Given the description of an element on the screen output the (x, y) to click on. 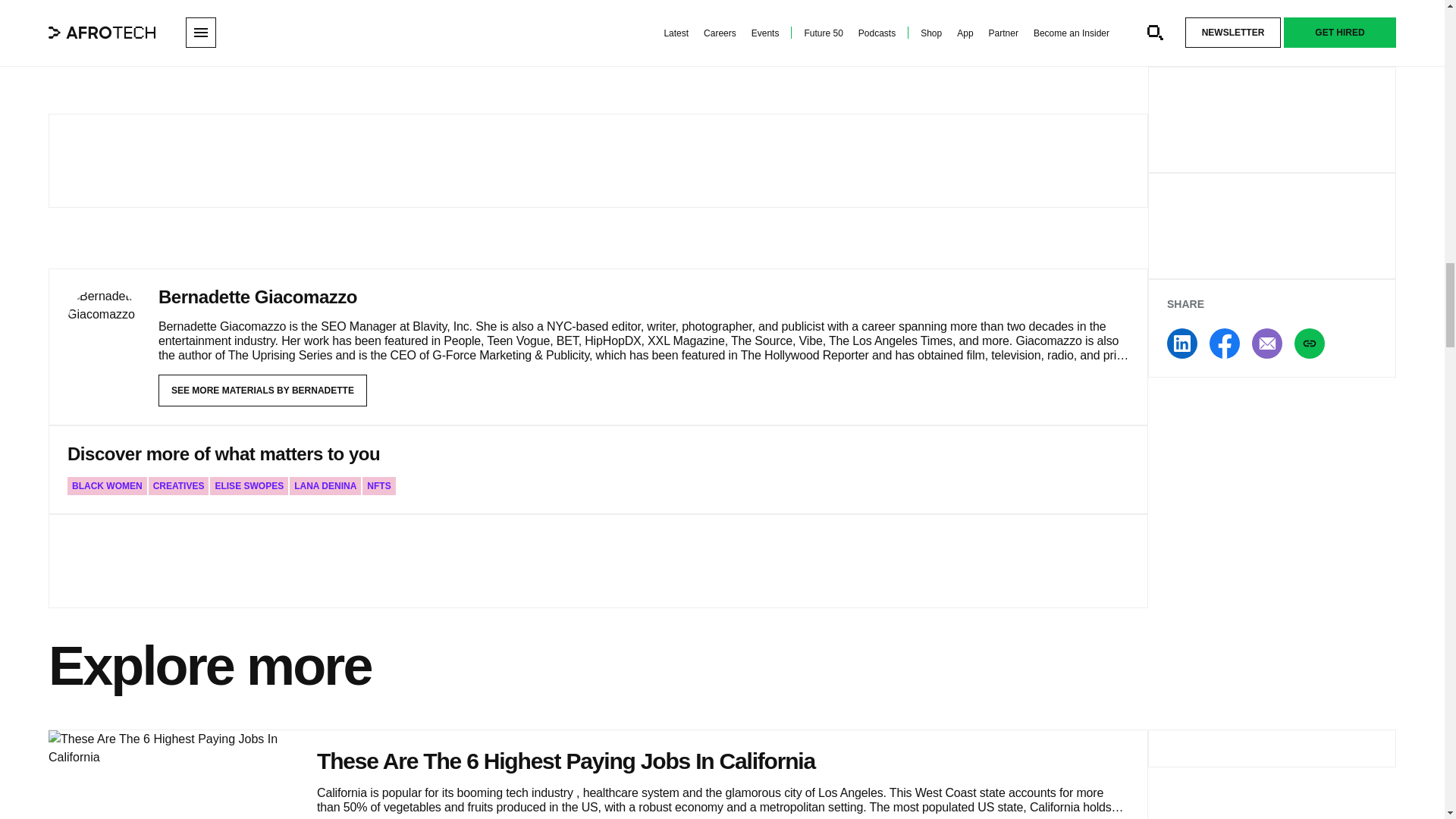
Bernadette Giacomazzo (102, 322)
Bernadette Giacomazzo (257, 296)
These Are The 6 Highest Paying Jobs In California (173, 774)
